Given the description of an element on the screen output the (x, y) to click on. 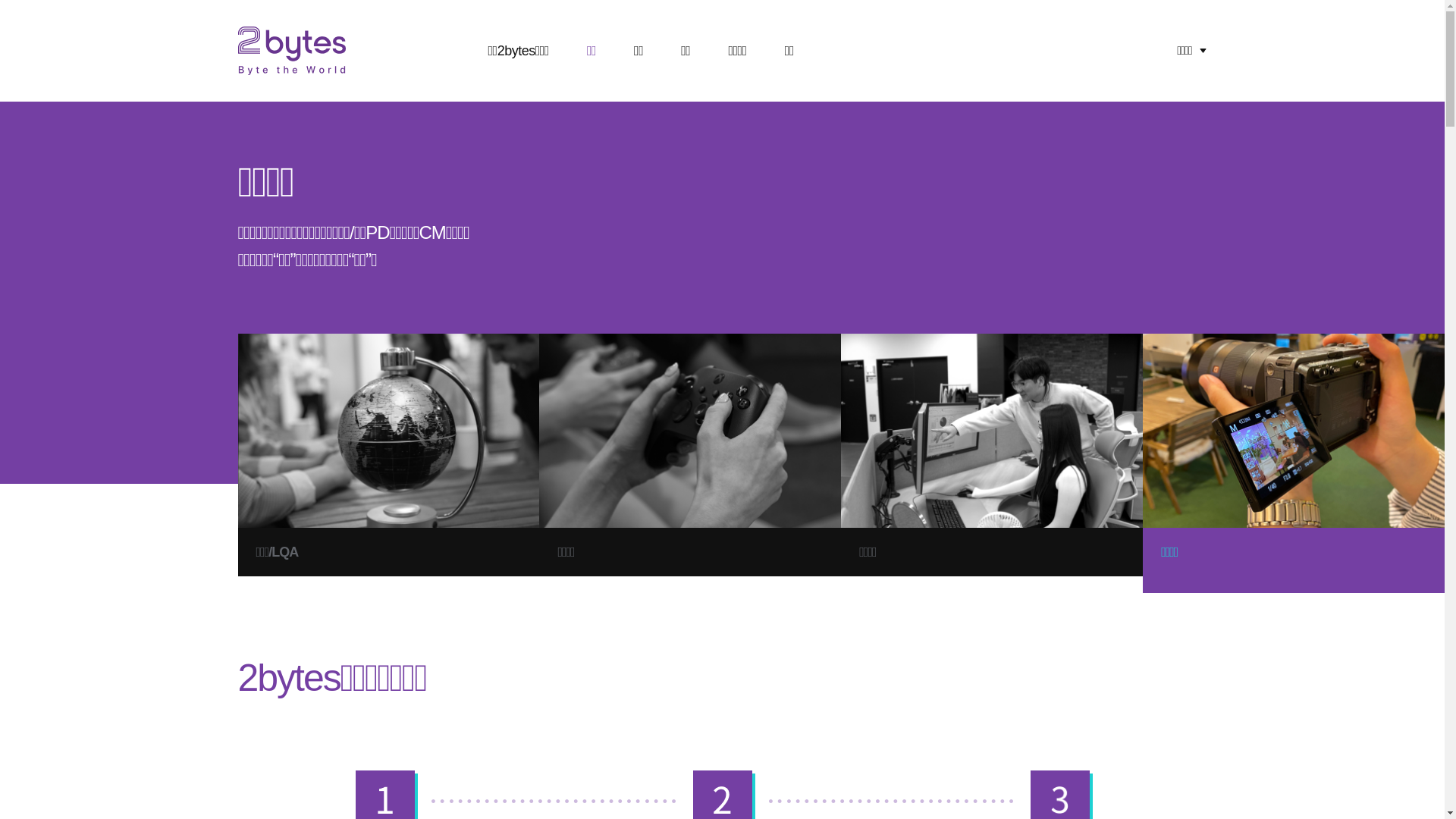
2Bytes byte the world Element type: text (291, 50)
